Given the description of an element on the screen output the (x, y) to click on. 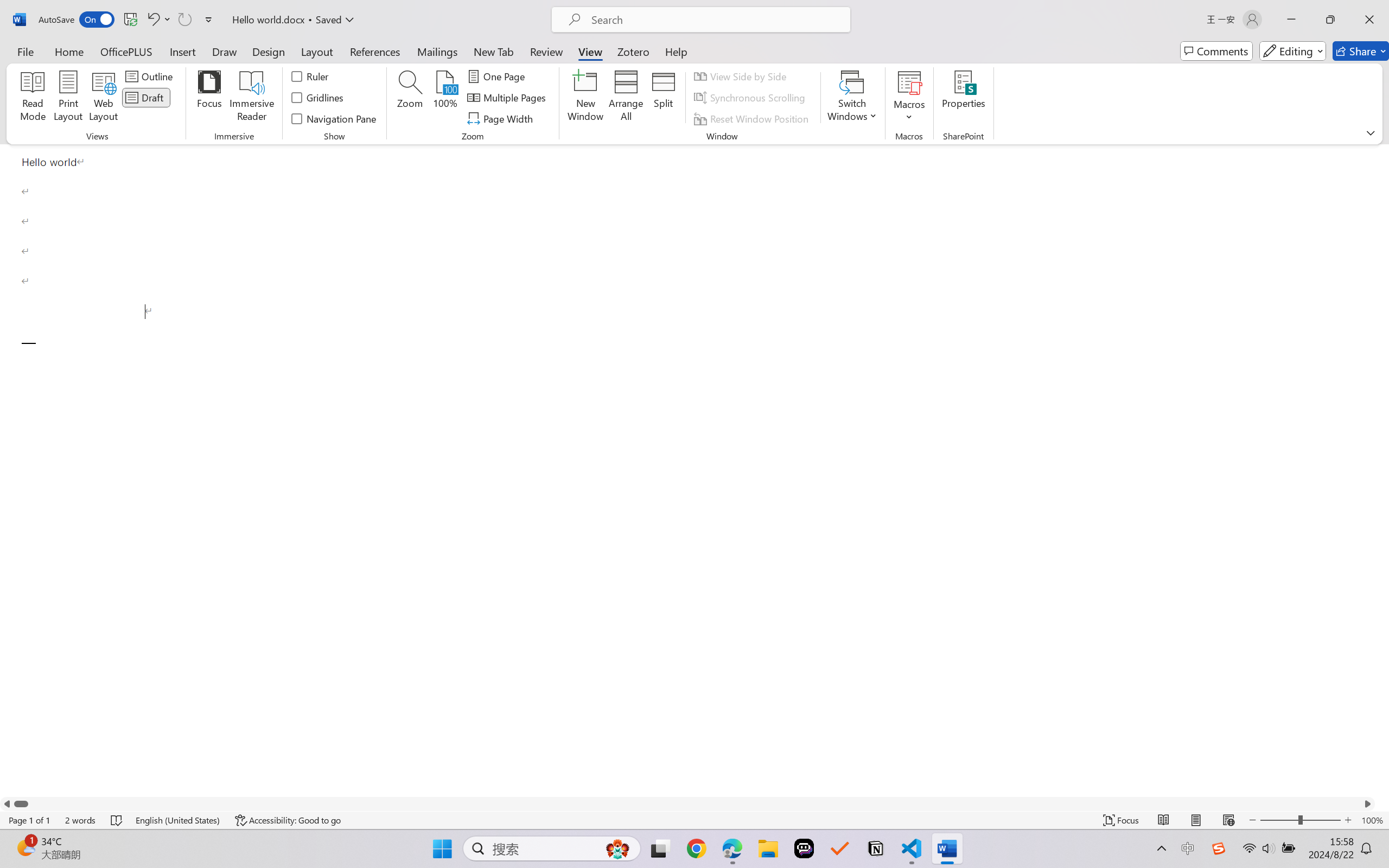
Subtitle TextBox (694, 745)
Clear Recording (224, 62)
Cancel (1340, 209)
Start a conversation (1282, 179)
